Given the description of an element on the screen output the (x, y) to click on. 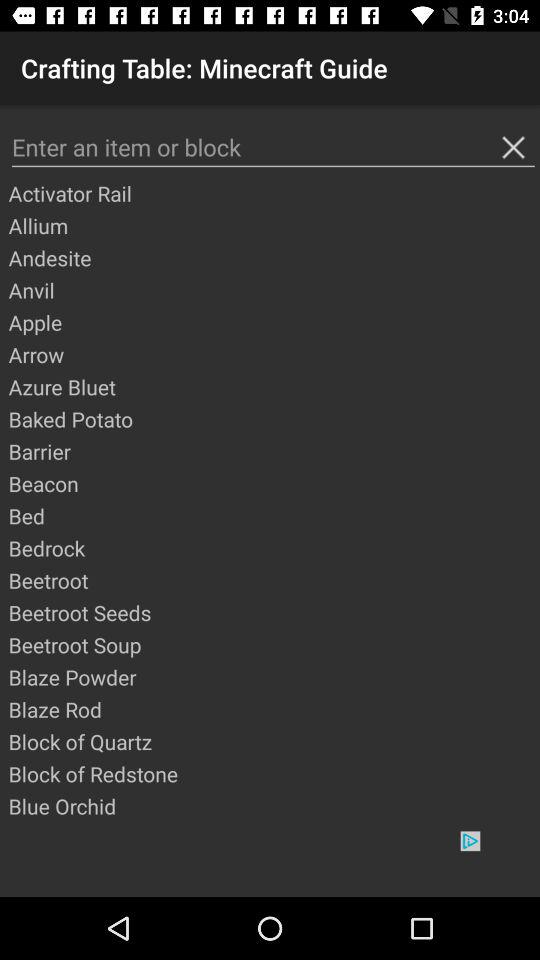
launch the icon above beetroot soup (273, 612)
